Given the description of an element on the screen output the (x, y) to click on. 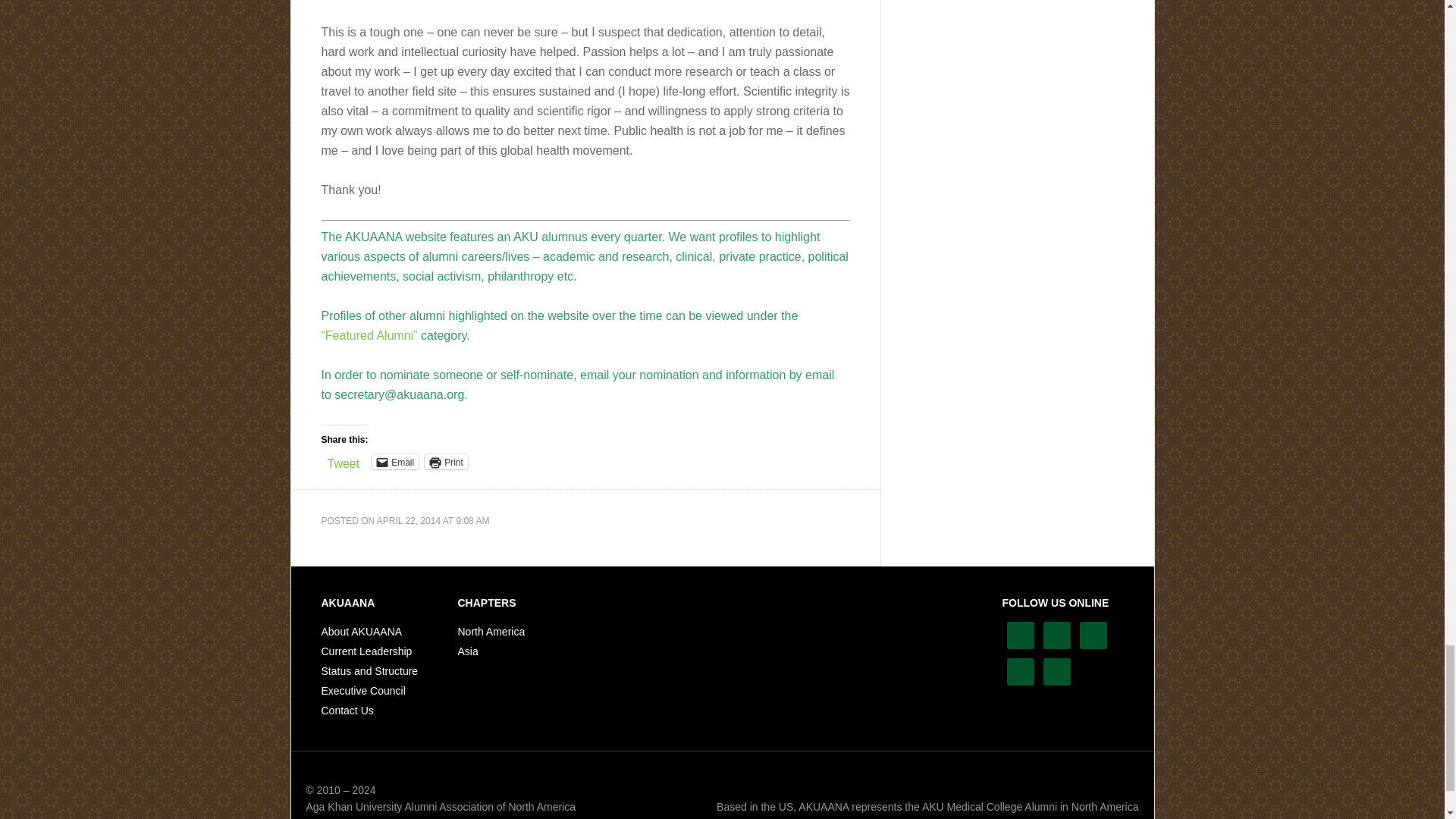
Current Leadership (366, 651)
North America (491, 631)
Click to print (446, 461)
Contact Us (347, 710)
About AKUAANA (362, 631)
Status and Structure (370, 671)
Executive Council (363, 690)
Click to email a link to a friend (395, 461)
